Given the description of an element on the screen output the (x, y) to click on. 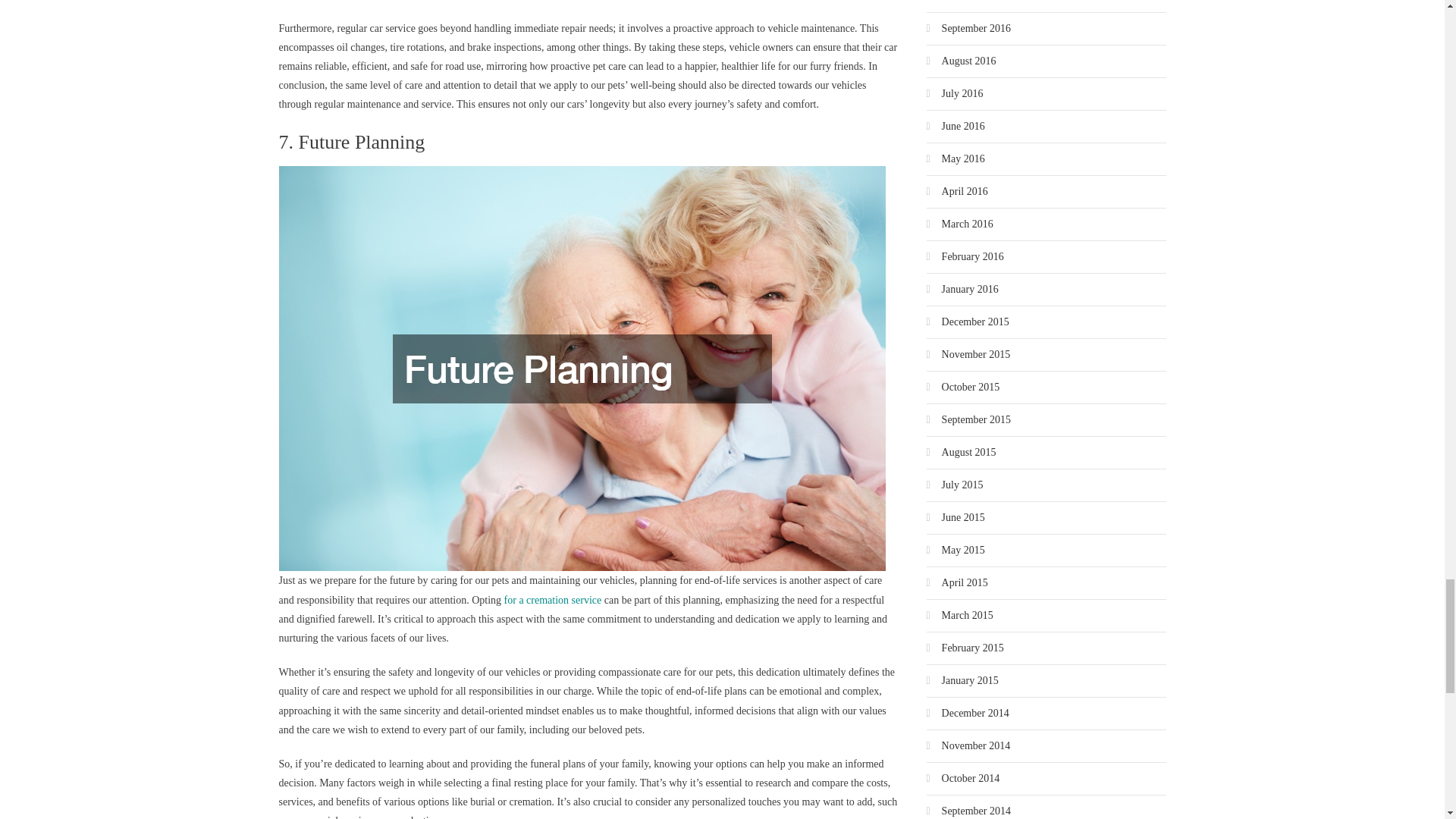
for a cremation service (552, 600)
